Given the description of an element on the screen output the (x, y) to click on. 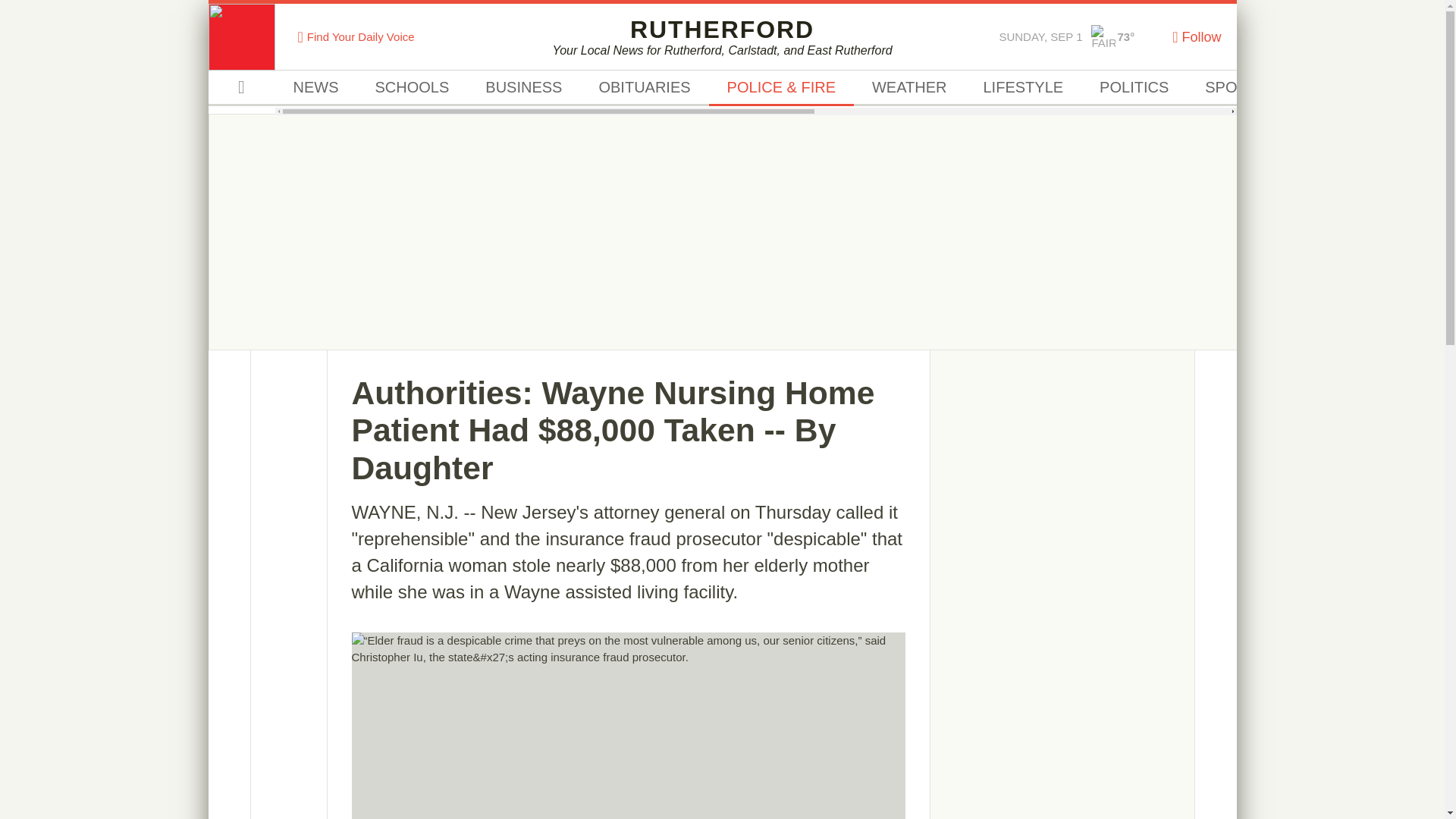
WEATHER (909, 88)
OBITUARIES (643, 88)
BUSINESS (523, 88)
POLITICS (1133, 88)
LIFESTYLE (1022, 88)
SCHOOLS (411, 88)
Fair (1102, 36)
EVENTS (1333, 88)
NEWS (315, 88)
